Given the description of an element on the screen output the (x, y) to click on. 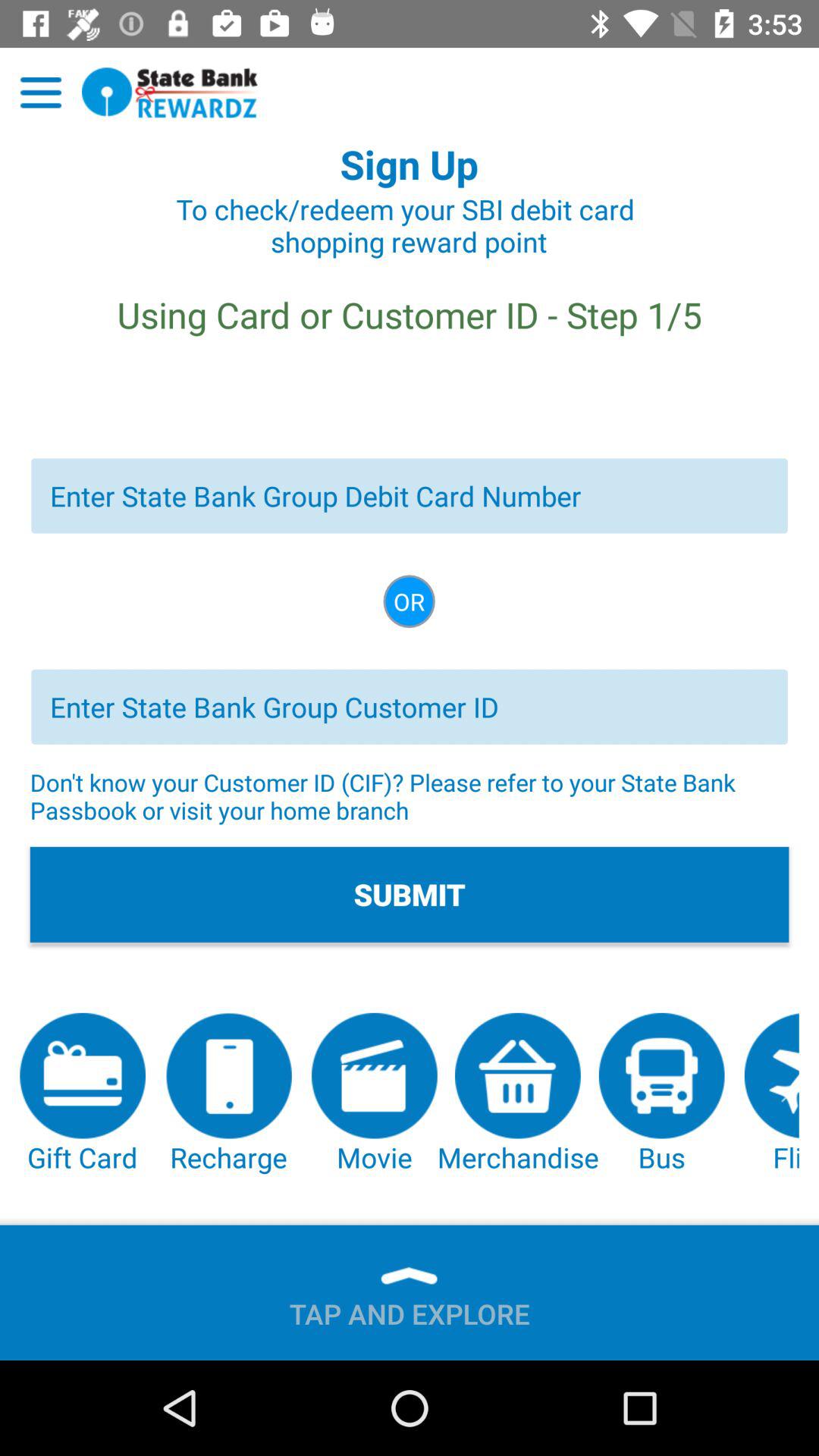
launch the icon next to bus app (771, 1094)
